Given the description of an element on the screen output the (x, y) to click on. 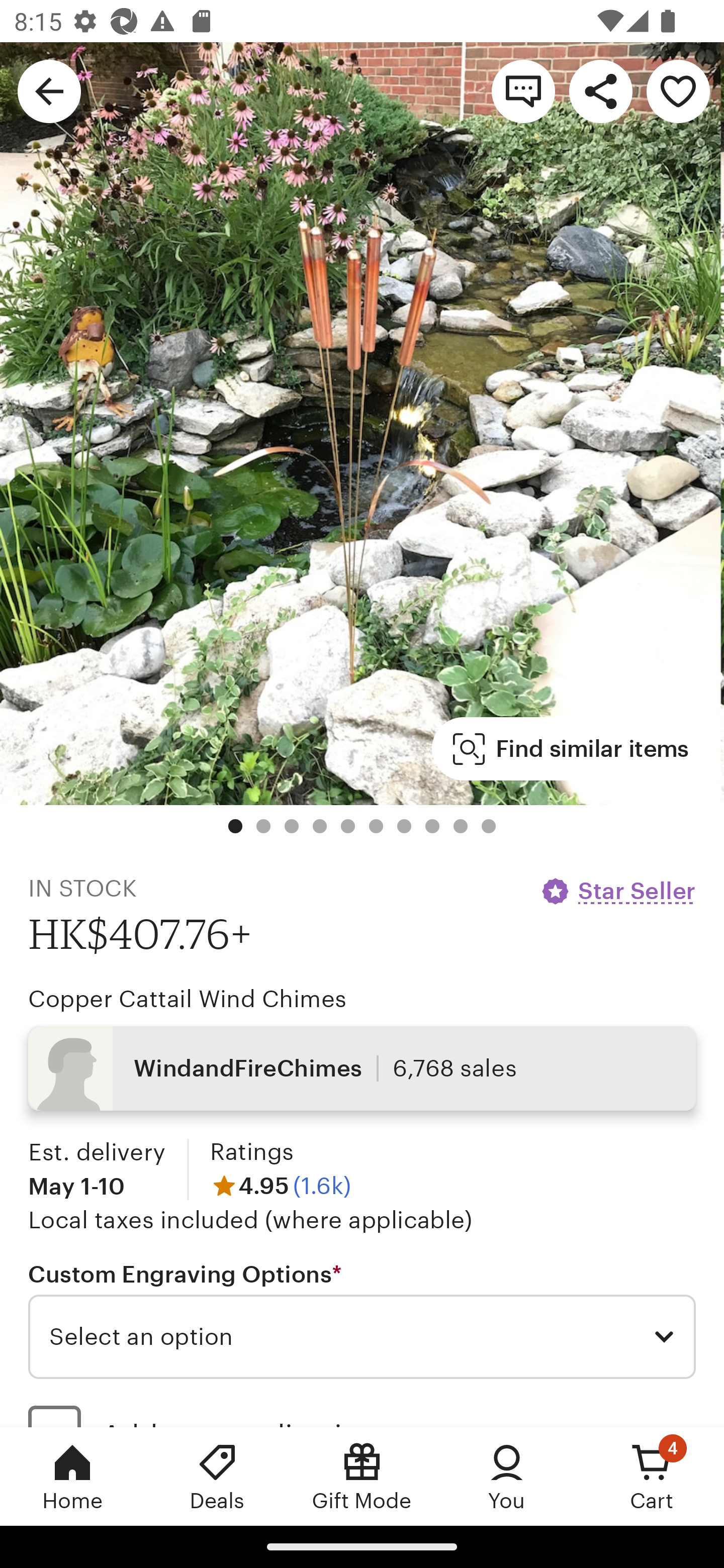
Navigate up (49, 90)
Contact shop (523, 90)
Share (600, 90)
Find similar items (571, 748)
Star Seller (617, 890)
Copper Cattail Wind Chimes (187, 999)
WindandFireChimes 6,768 sales (361, 1067)
Ratings (251, 1151)
4.95 (1.6k) (280, 1185)
Select an option (361, 1336)
Deals (216, 1475)
Gift Mode (361, 1475)
You (506, 1475)
Cart, 4 new notifications Cart (651, 1475)
